Given the description of an element on the screen output the (x, y) to click on. 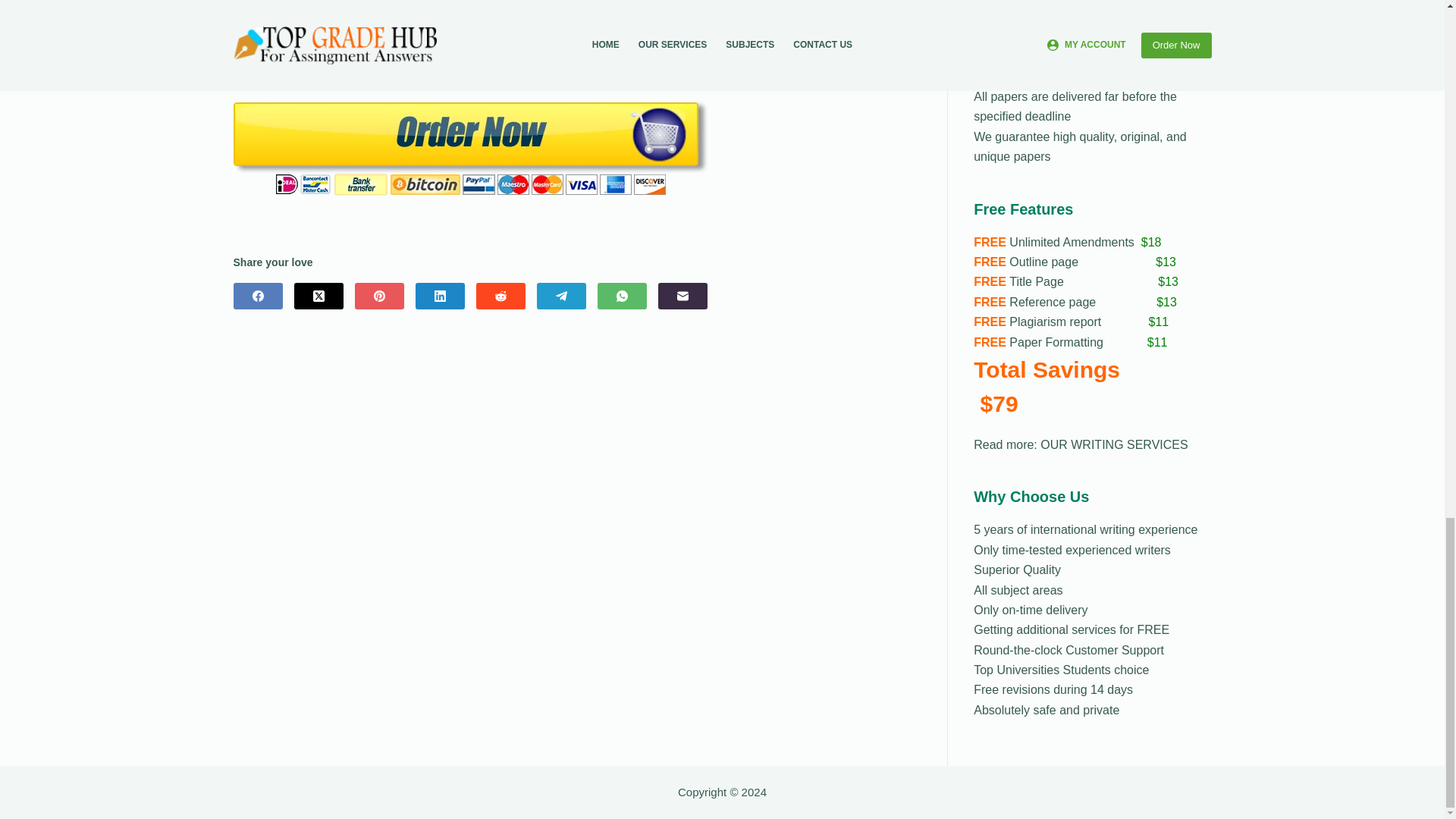
PLACE an ORDER. (1141, 36)
OUR WRITING SERVICES (1114, 444)
